Given the description of an element on the screen output the (x, y) to click on. 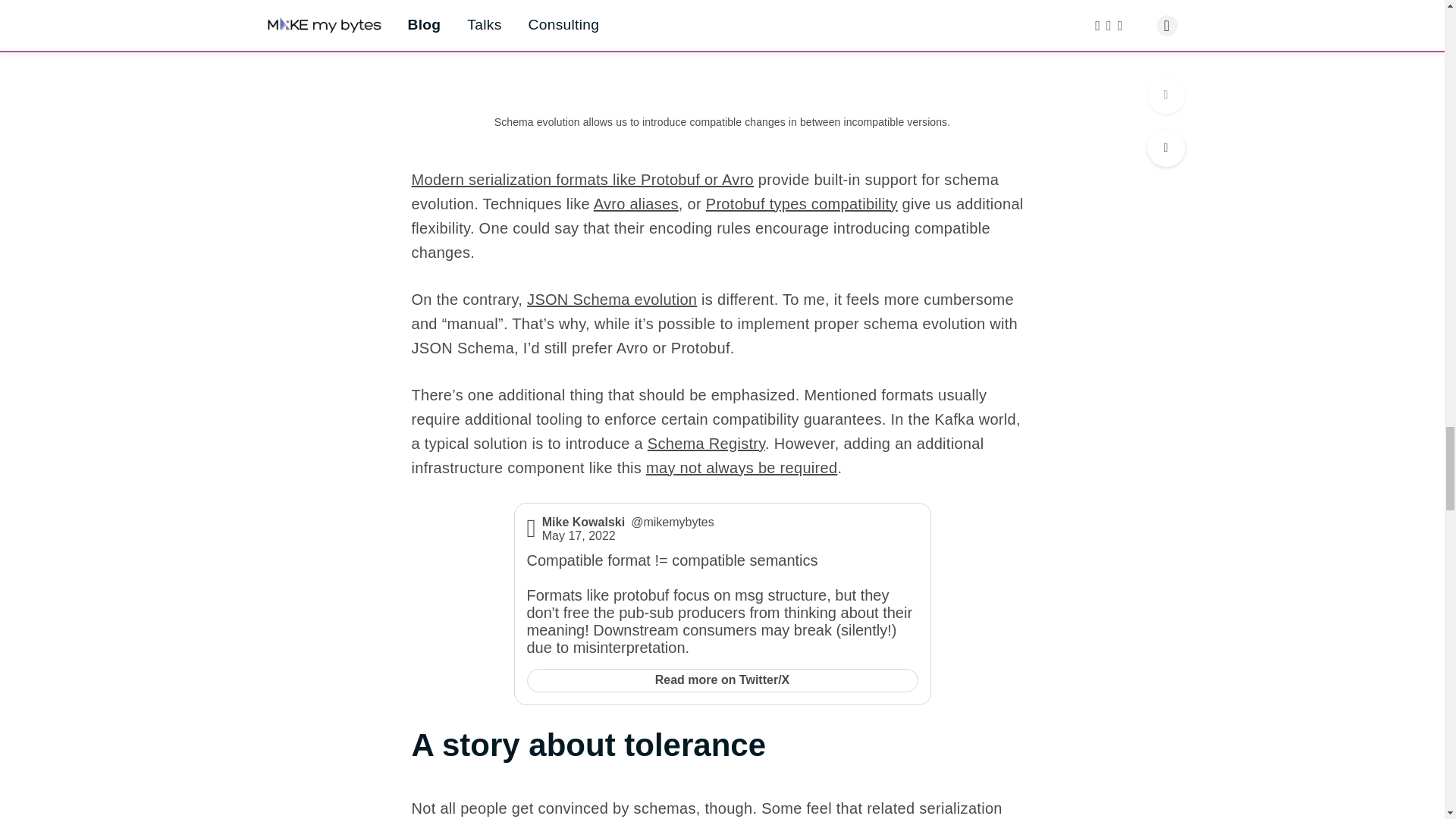
Mike Kowalski (582, 521)
Protobuf types compatibility (802, 203)
Avro aliases (636, 203)
JSON Schema evolution (612, 299)
Schema Registry (706, 443)
Modern serialization formats like Protobuf or Avro (582, 179)
may not always be required (741, 467)
